Given the description of an element on the screen output the (x, y) to click on. 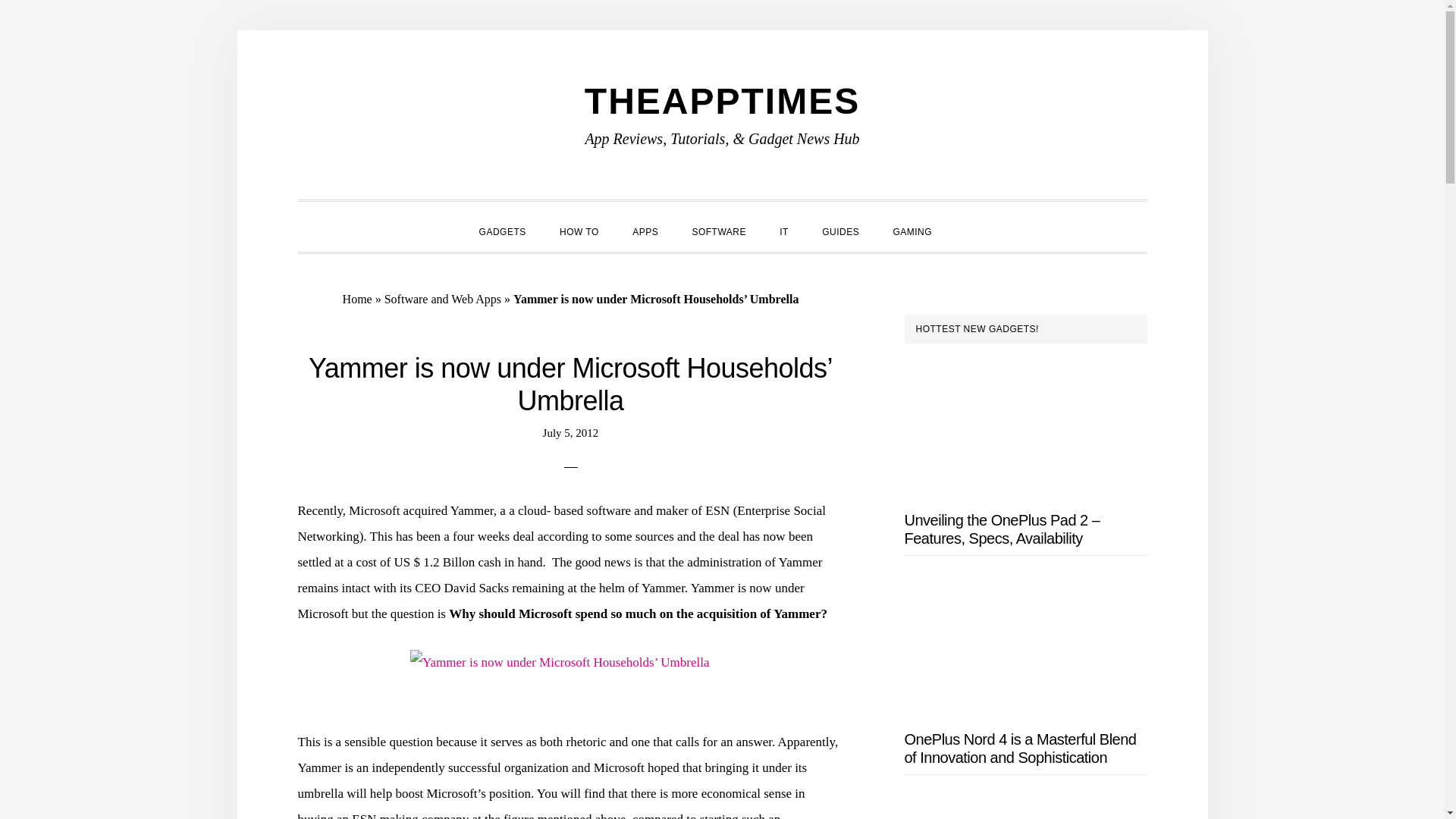
HOW TO (579, 230)
APPS (644, 230)
GAMING (912, 230)
Software and Web Apps (442, 298)
IT (783, 230)
THEAPPTIMES (722, 101)
GUIDES (840, 230)
SHOW SEARCH (964, 218)
SOFTWARE (719, 230)
Home (357, 298)
GADGETS (502, 230)
